Given the description of an element on the screen output the (x, y) to click on. 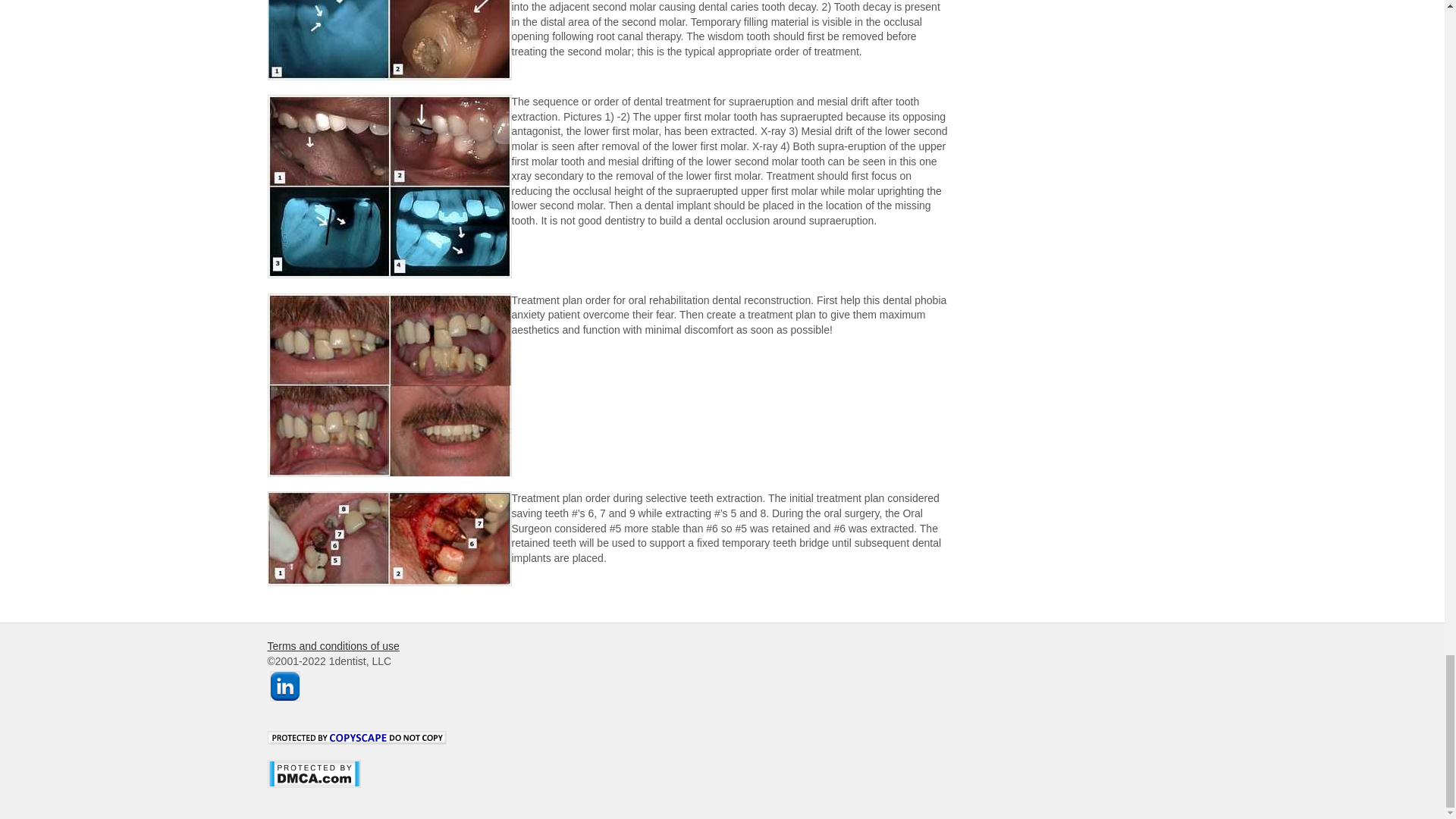
Terms and conditions of use (332, 645)
DMCA.com Protection Status (312, 794)
